Given the description of an element on the screen output the (x, y) to click on. 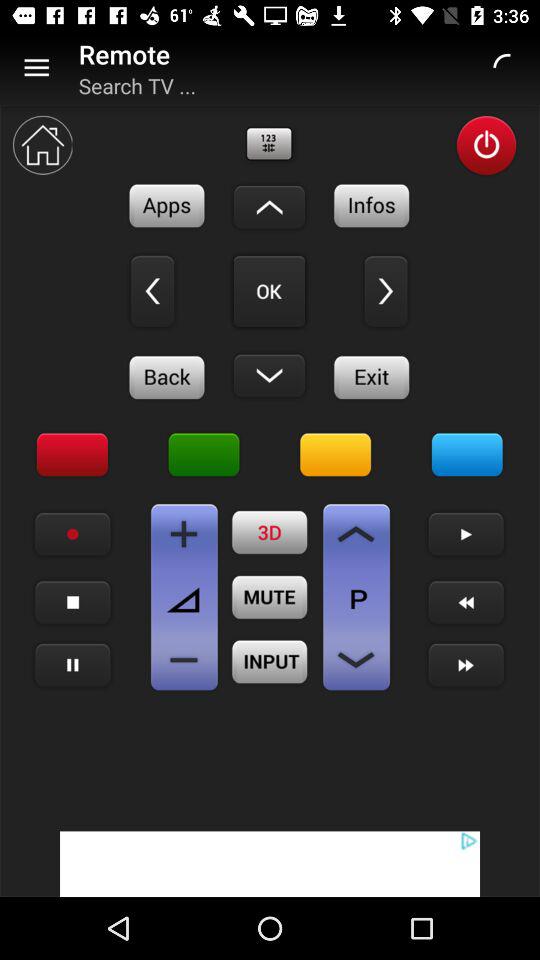
colour change button (467, 455)
